Given the description of an element on the screen output the (x, y) to click on. 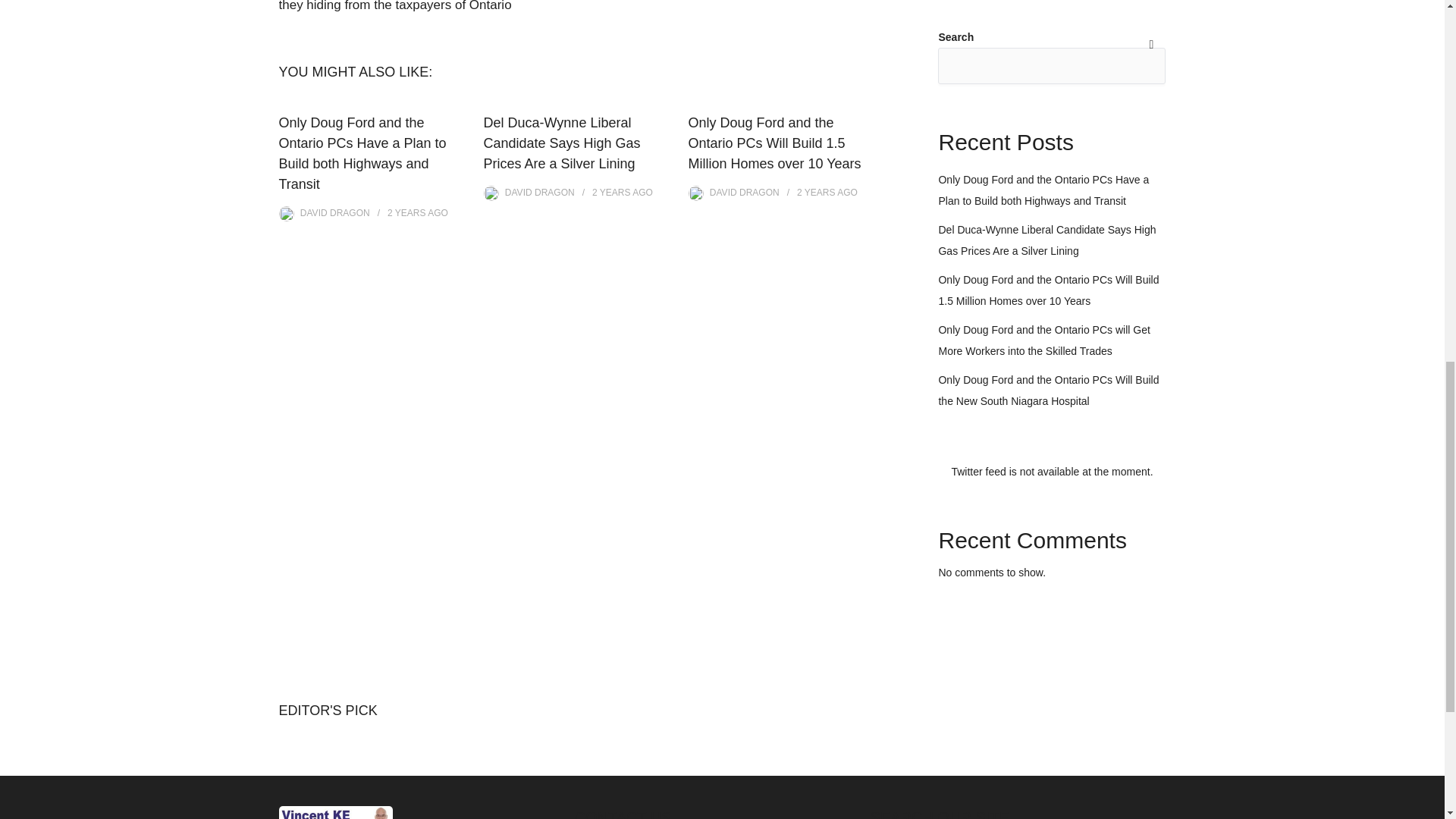
DAVID DRAGON (540, 192)
DAVID DRAGON (334, 213)
2 YEARS (611, 192)
2 YEARS (815, 192)
2 YEARS (406, 213)
DAVID DRAGON (744, 192)
